Given the description of an element on the screen output the (x, y) to click on. 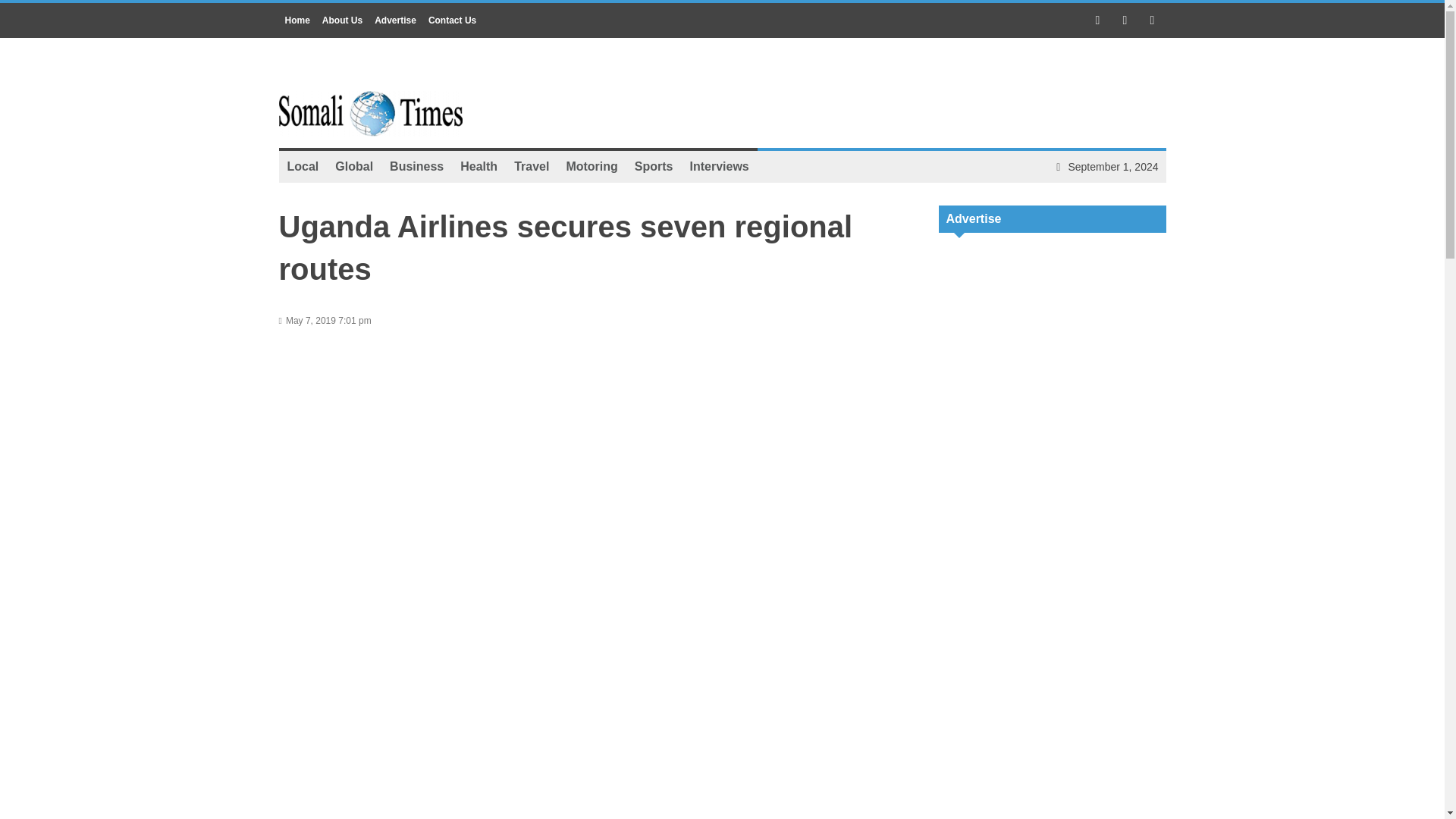
Contact Us (451, 20)
Health (478, 166)
Local (303, 166)
Sports (653, 166)
Motoring (591, 166)
Global (353, 166)
Travel (531, 166)
Home (297, 20)
Advertise (395, 20)
About Us (341, 20)
